Given the description of an element on the screen output the (x, y) to click on. 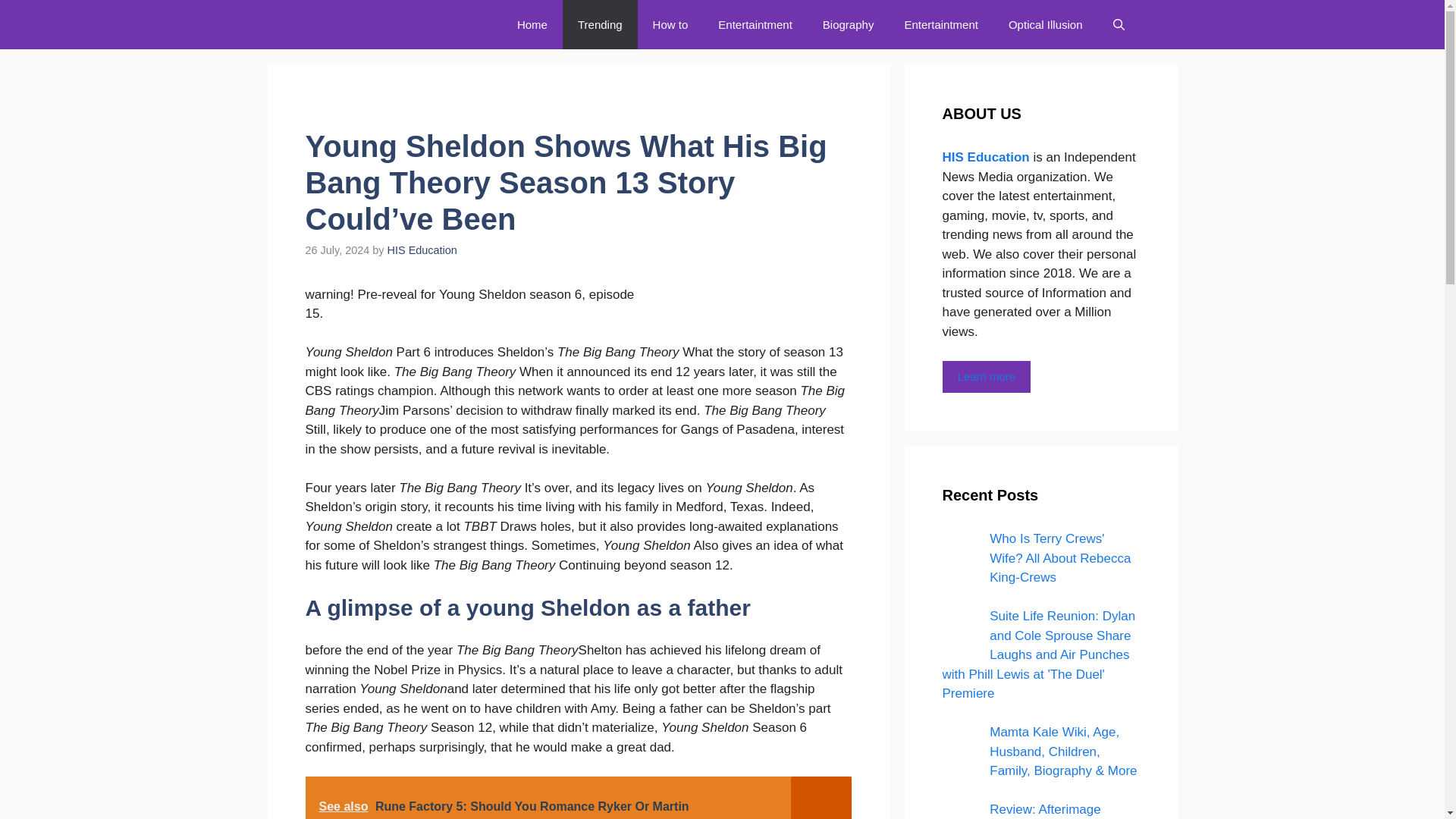
Entertaintment (755, 24)
Entertaintment (940, 24)
How to (670, 24)
Who Is Terry Crews' Wife? All About Rebecca King-Crews (960, 551)
HIS Education (987, 156)
Review: Afterimage (1045, 809)
HIS Education (422, 250)
View all posts by HIS Education (422, 250)
Trending (599, 24)
HIS Education (390, 24)
Who Is Terry Crews' Wife? All About Rebecca King-Crews (1060, 557)
Biography (848, 24)
Optical Illusion (1044, 24)
